Given the description of an element on the screen output the (x, y) to click on. 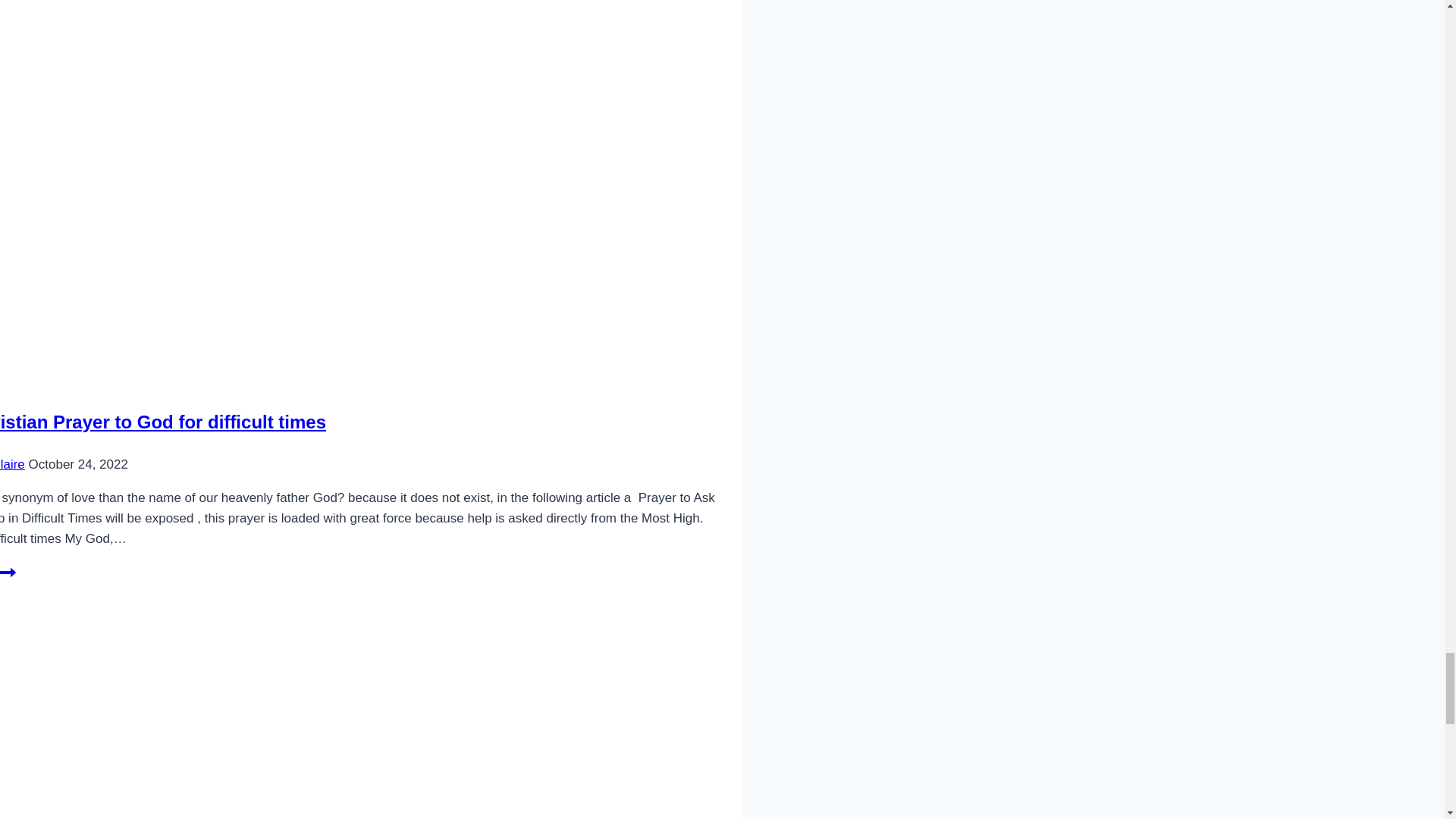
The Christian Prayer to God for difficult times (163, 421)
Kelly D Claire (12, 463)
